Given the description of an element on the screen output the (x, y) to click on. 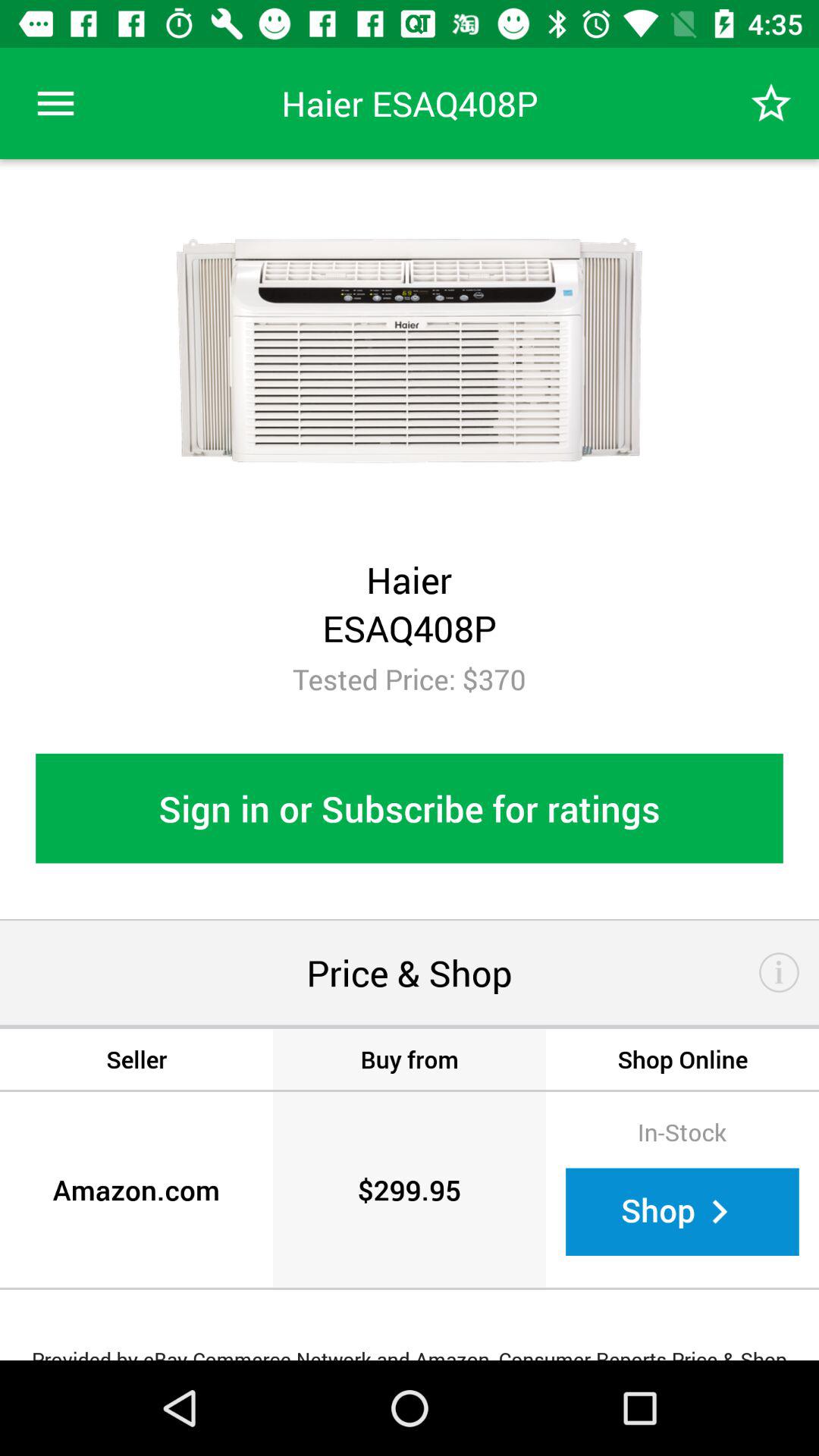
show info (779, 972)
